Given the description of an element on the screen output the (x, y) to click on. 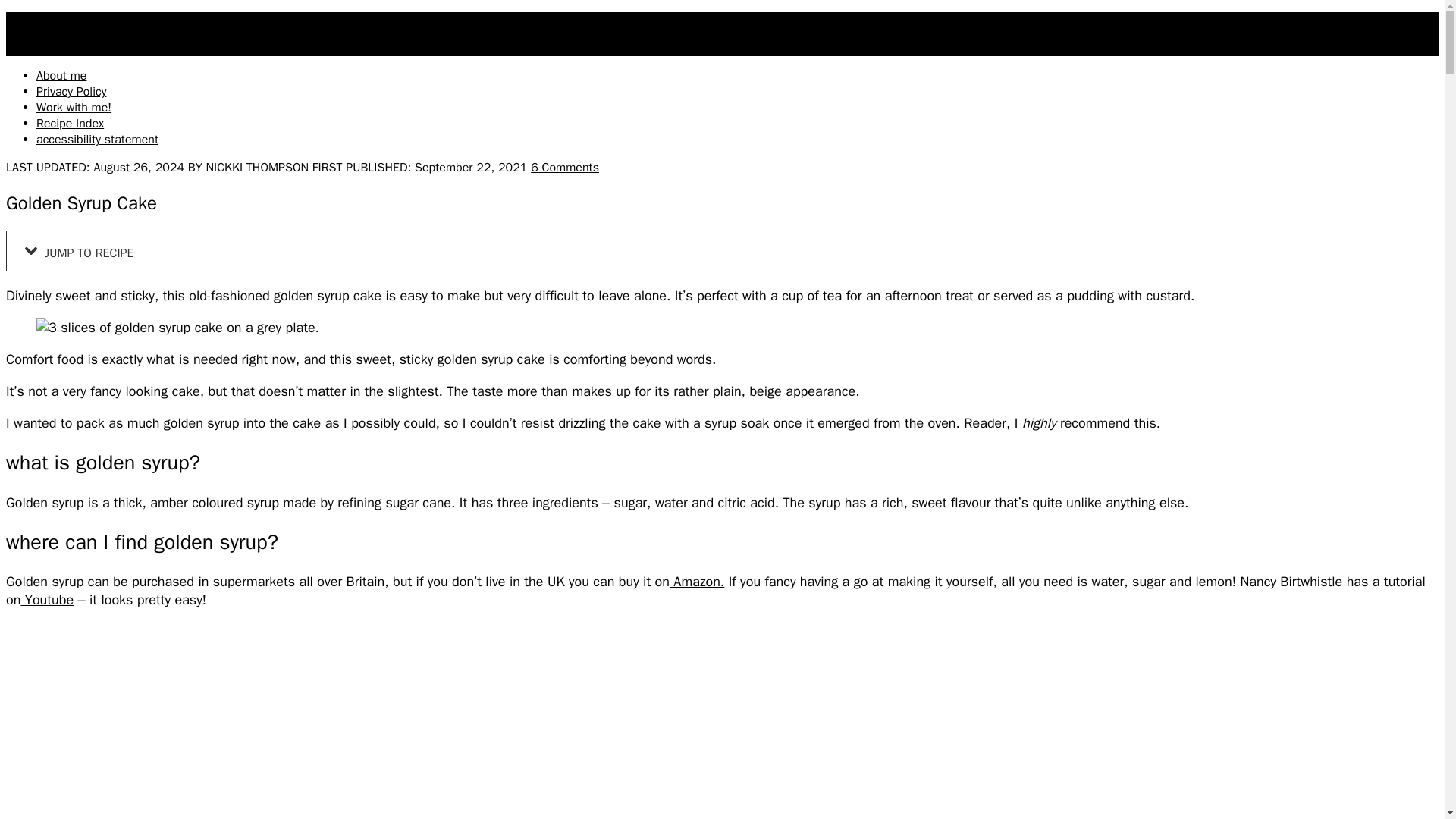
Work with me! (74, 107)
Youtube (47, 599)
Recipe Index (69, 123)
6 Comments (564, 167)
Amazon. (696, 581)
Something Sweet Something Savoury (104, 19)
JUMP TO RECIPE (78, 250)
About me (60, 75)
accessibility statement (97, 139)
Privacy Policy (71, 91)
